Given the description of an element on the screen output the (x, y) to click on. 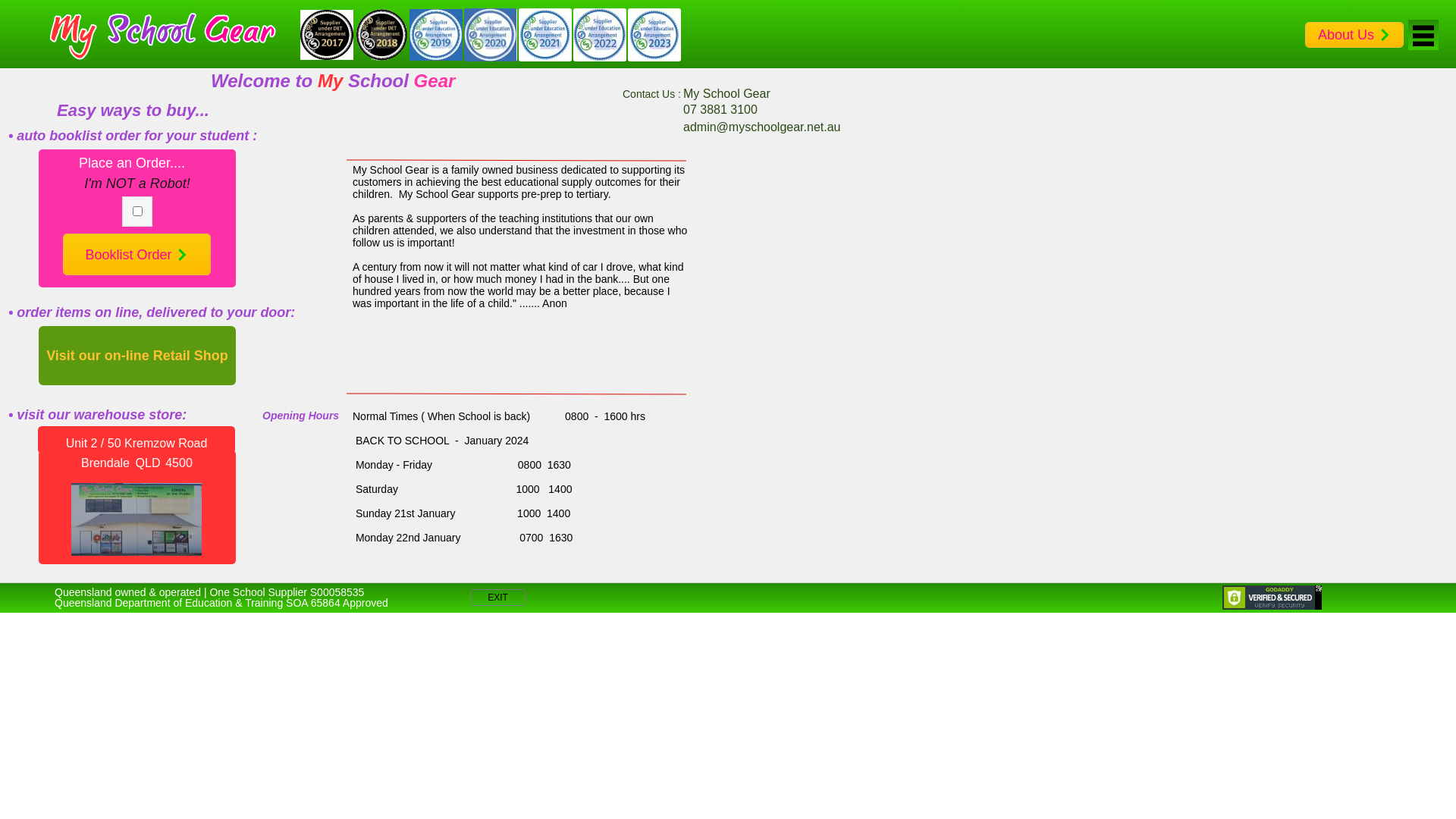
Booklist Order Element type: text (136, 254)
EXIT Element type: text (497, 597)
About Us Element type: text (1353, 34)
  Element type: text (153, 34)
